Given the description of an element on the screen output the (x, y) to click on. 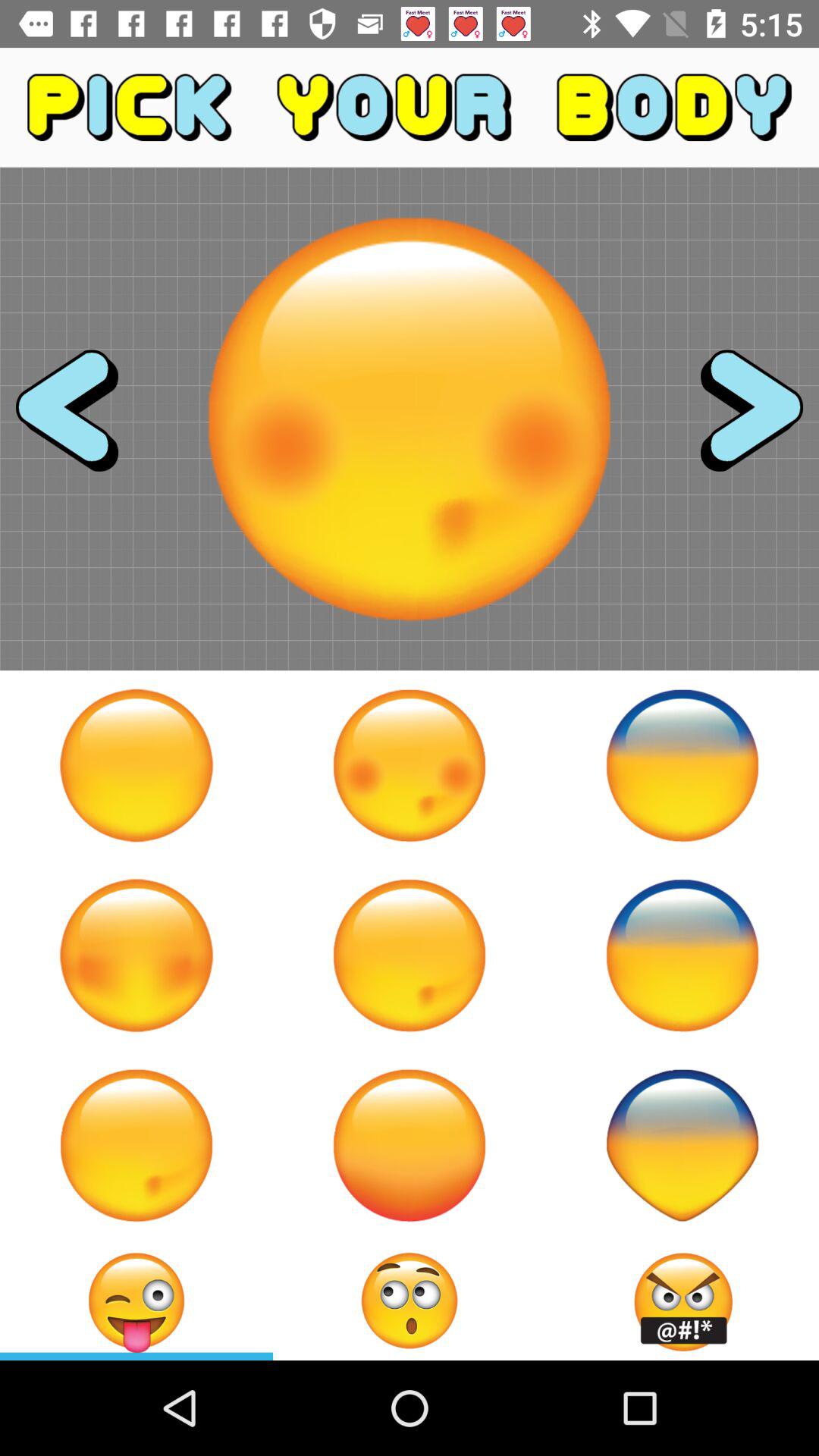
select this option (682, 765)
